Given the description of an element on the screen output the (x, y) to click on. 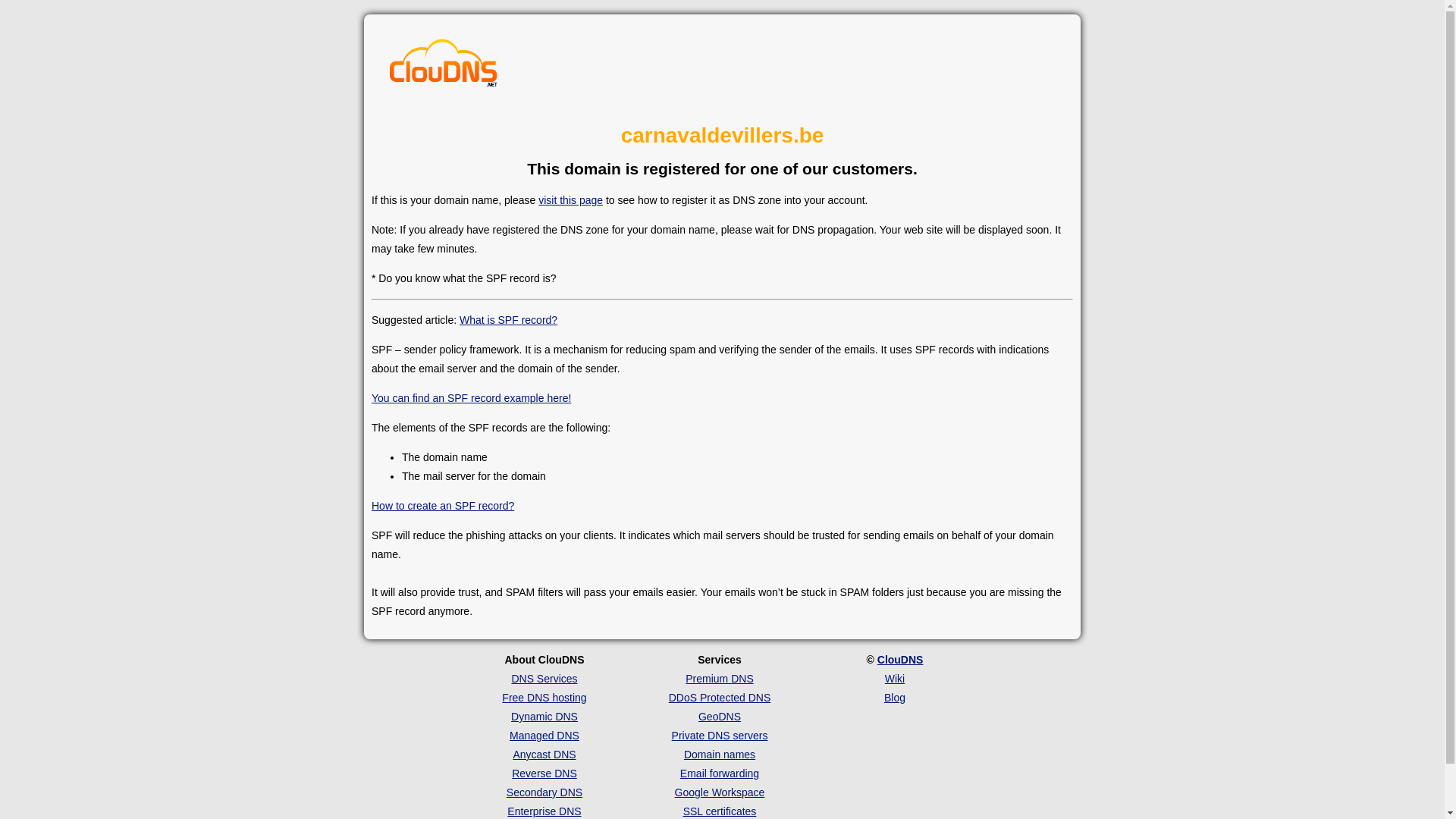
Email forwarding Element type: text (719, 773)
Google Workspace Element type: text (719, 792)
Blog Element type: text (894, 697)
Enterprise DNS Element type: text (543, 811)
Cloud DNS Element type: hover (443, 66)
Wiki Element type: text (894, 678)
ClouDNS Element type: text (900, 659)
GeoDNS Element type: text (719, 716)
visit this page Element type: text (570, 200)
SSL certificates Element type: text (719, 811)
Private DNS servers Element type: text (719, 735)
Secondary DNS Element type: text (544, 792)
Dynamic DNS Element type: text (544, 716)
How to create an SPF record? Element type: text (442, 505)
Premium DNS Element type: text (719, 678)
Free DNS hosting Element type: text (544, 697)
Reverse DNS Element type: text (544, 773)
DNS Services Element type: text (544, 678)
Domain names Element type: text (719, 754)
DDoS Protected DNS Element type: text (719, 697)
You can find an SPF record example here! Element type: text (471, 398)
What is SPF record? Element type: text (508, 319)
Anycast DNS Element type: text (543, 754)
Managed DNS Element type: text (544, 735)
